Given the description of an element on the screen output the (x, y) to click on. 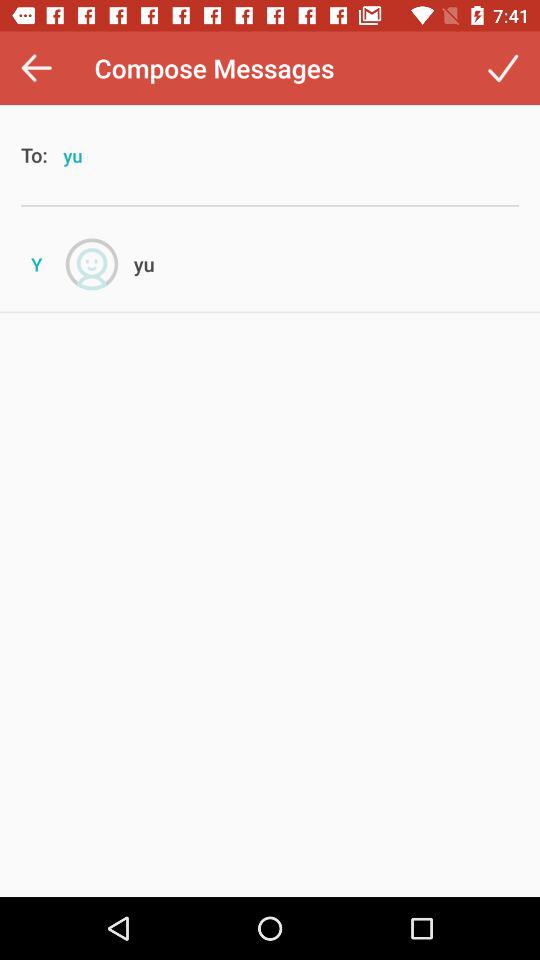
turn on the item to the left of the compose messages item (36, 68)
